Given the description of an element on the screen output the (x, y) to click on. 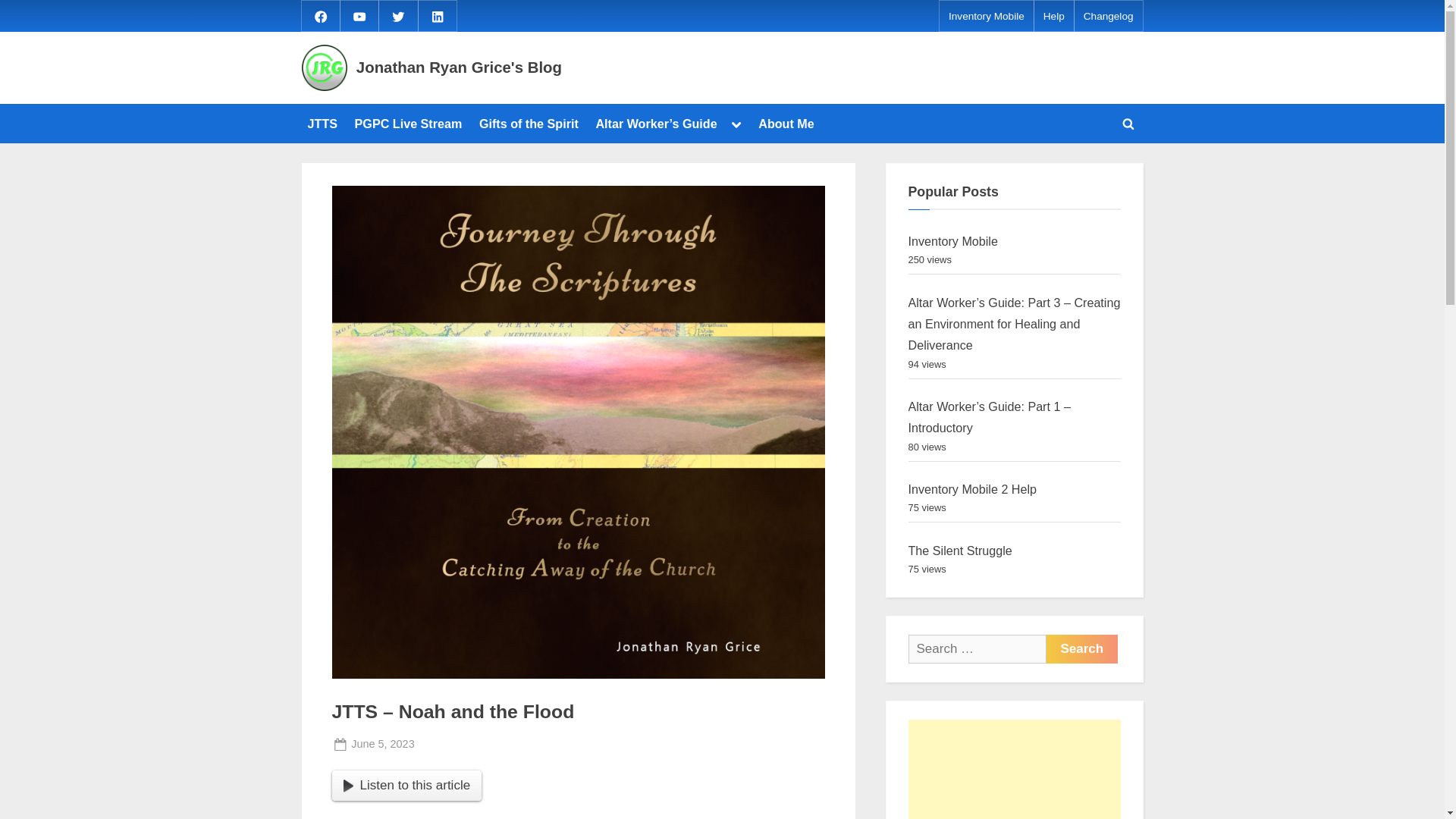
About Me (786, 123)
YouTube (382, 743)
Toggle search form (359, 15)
The Silent Struggle (1128, 123)
Search (959, 550)
Jonathan Ryan Grice's Blog (1082, 648)
LinkedIn (459, 67)
Search (437, 15)
Inventory Mobile 2 Help (1082, 648)
Facebook (972, 489)
PGPC Live Stream (320, 15)
Gifts of the Spirit (408, 123)
Help (459, 743)
